Given the description of an element on the screen output the (x, y) to click on. 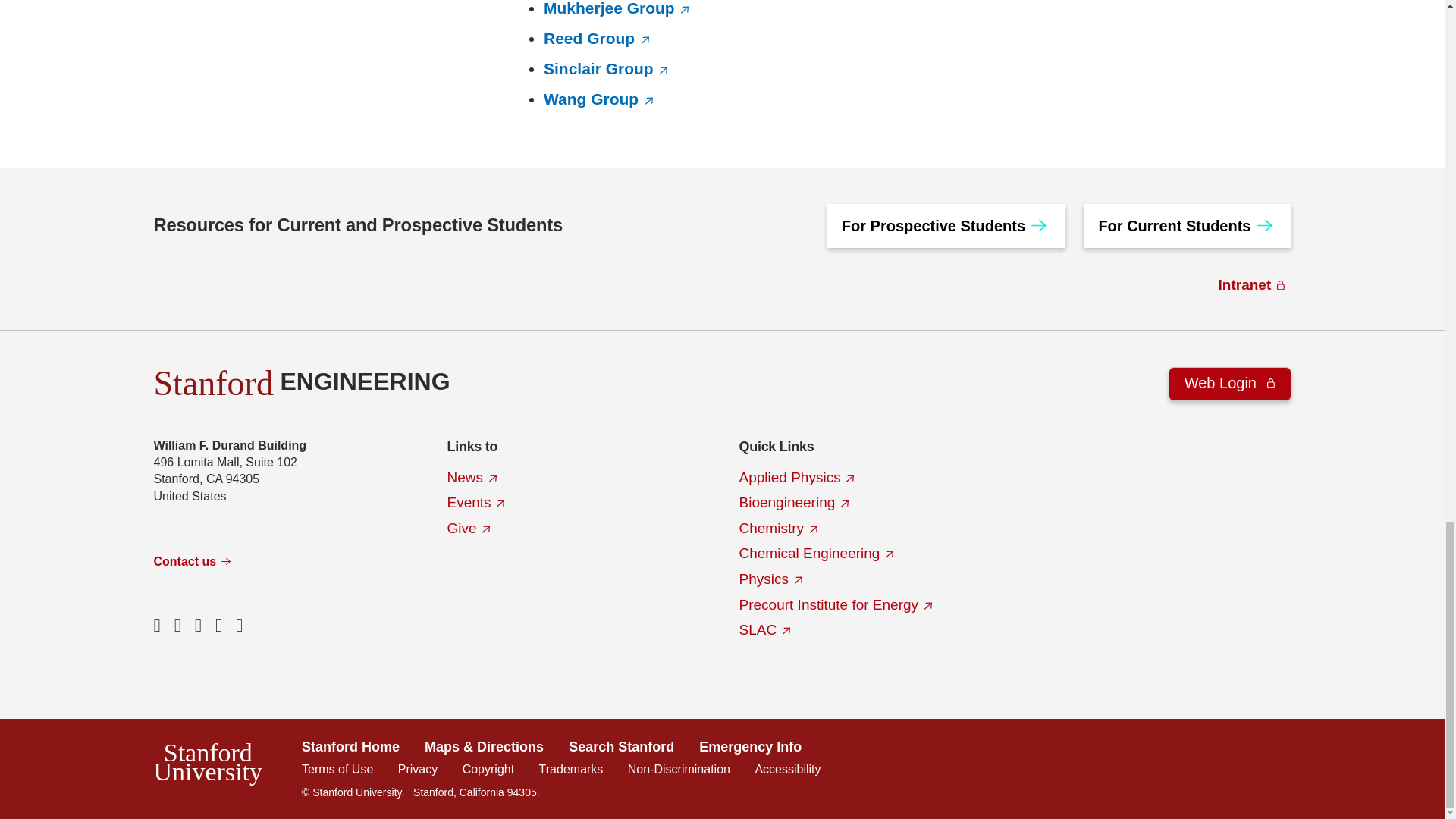
Terms of use for sites (336, 768)
Ownership and use of Stanford trademarks and images (571, 768)
Non-discrimination policy (678, 768)
Report alleged copyright infringement (488, 768)
Privacy and cookie policy (417, 768)
Report web accessibility issues (787, 768)
